Given the description of an element on the screen output the (x, y) to click on. 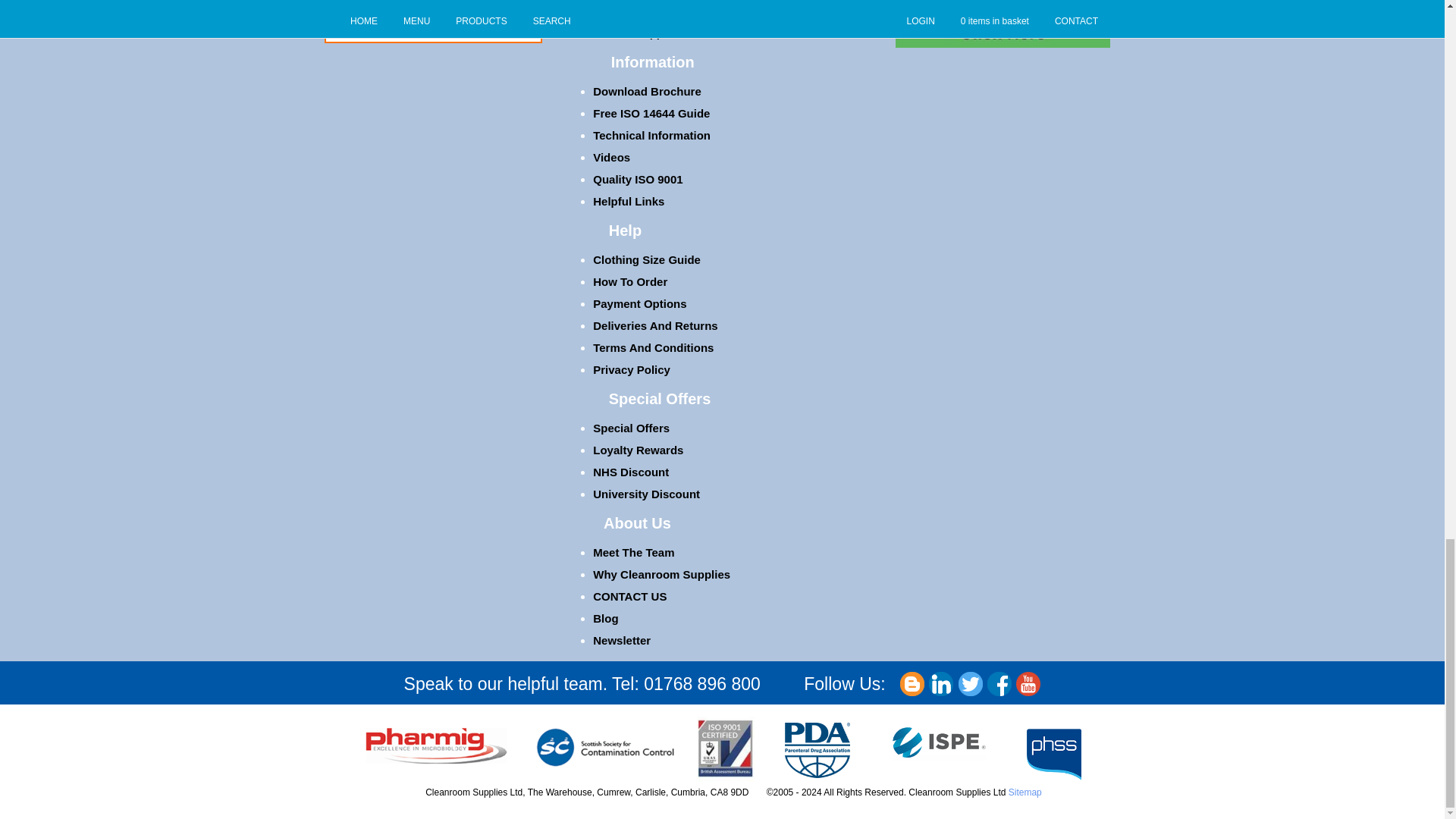
You Tube (1028, 683)
BLOG (911, 683)
Facebook (999, 683)
Twitter (970, 683)
LinkedIn (940, 683)
Account Application (647, 32)
